Given the description of an element on the screen output the (x, y) to click on. 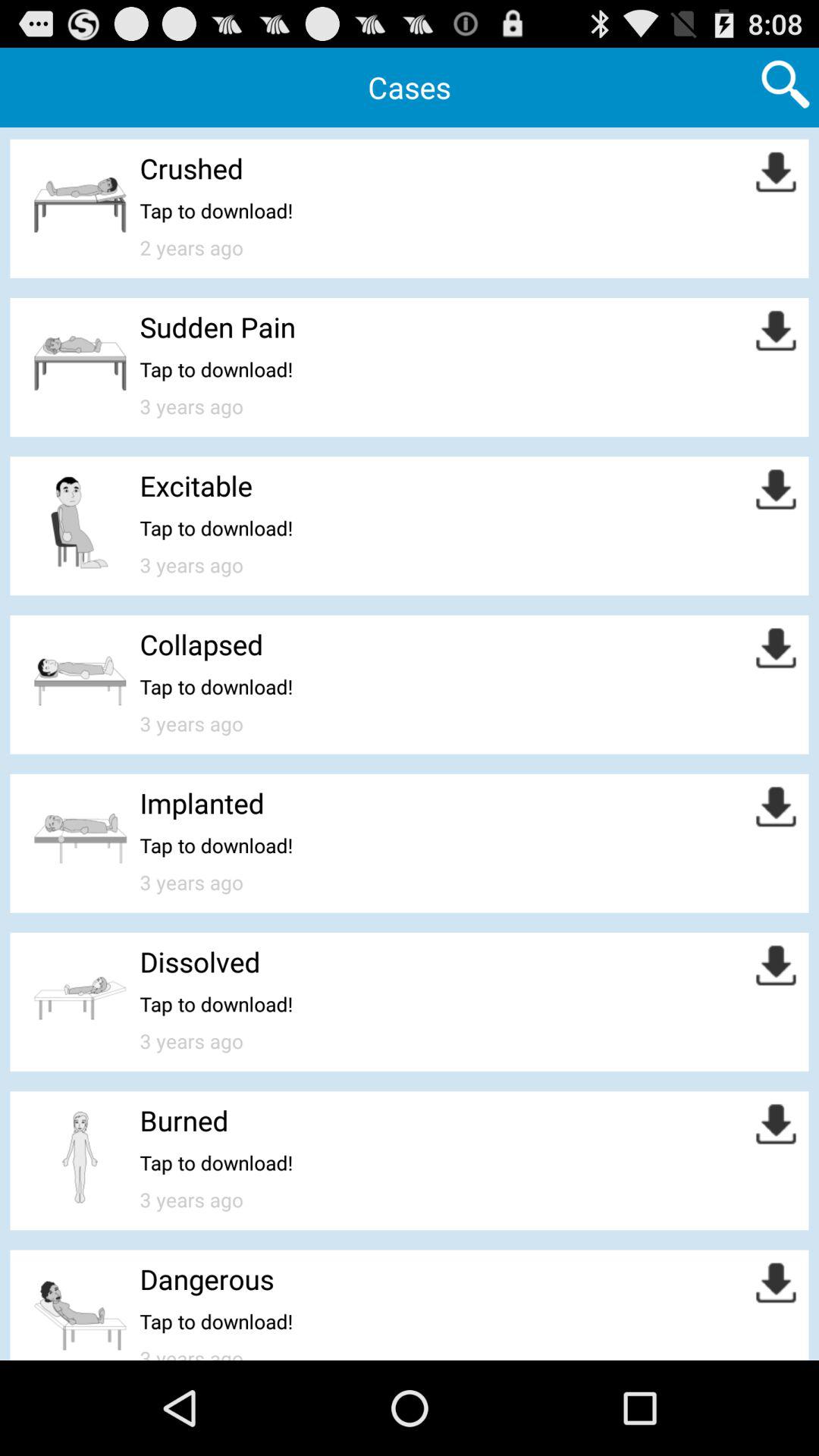
tap dangerous icon (206, 1278)
